Given the description of an element on the screen output the (x, y) to click on. 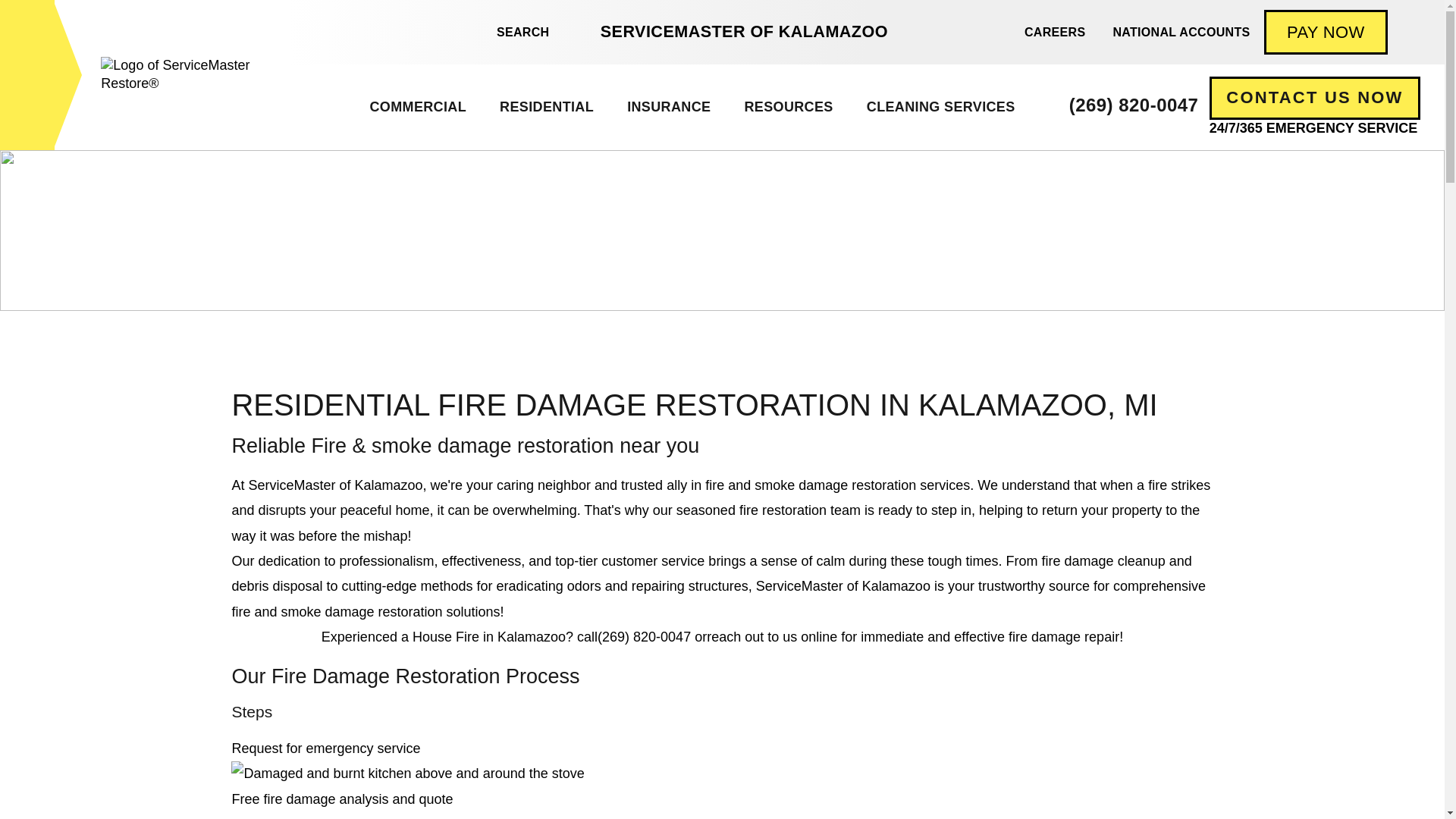
PAY NOW (1325, 31)
SERVICEMASTER OF KALAMAZOO (743, 32)
SEARCH (513, 31)
COMMERCIAL (417, 106)
INSURANCE (668, 106)
CAREERS (1054, 31)
RESIDENTIAL (545, 106)
NATIONAL ACCOUNTS (1181, 31)
